Given the description of an element on the screen output the (x, y) to click on. 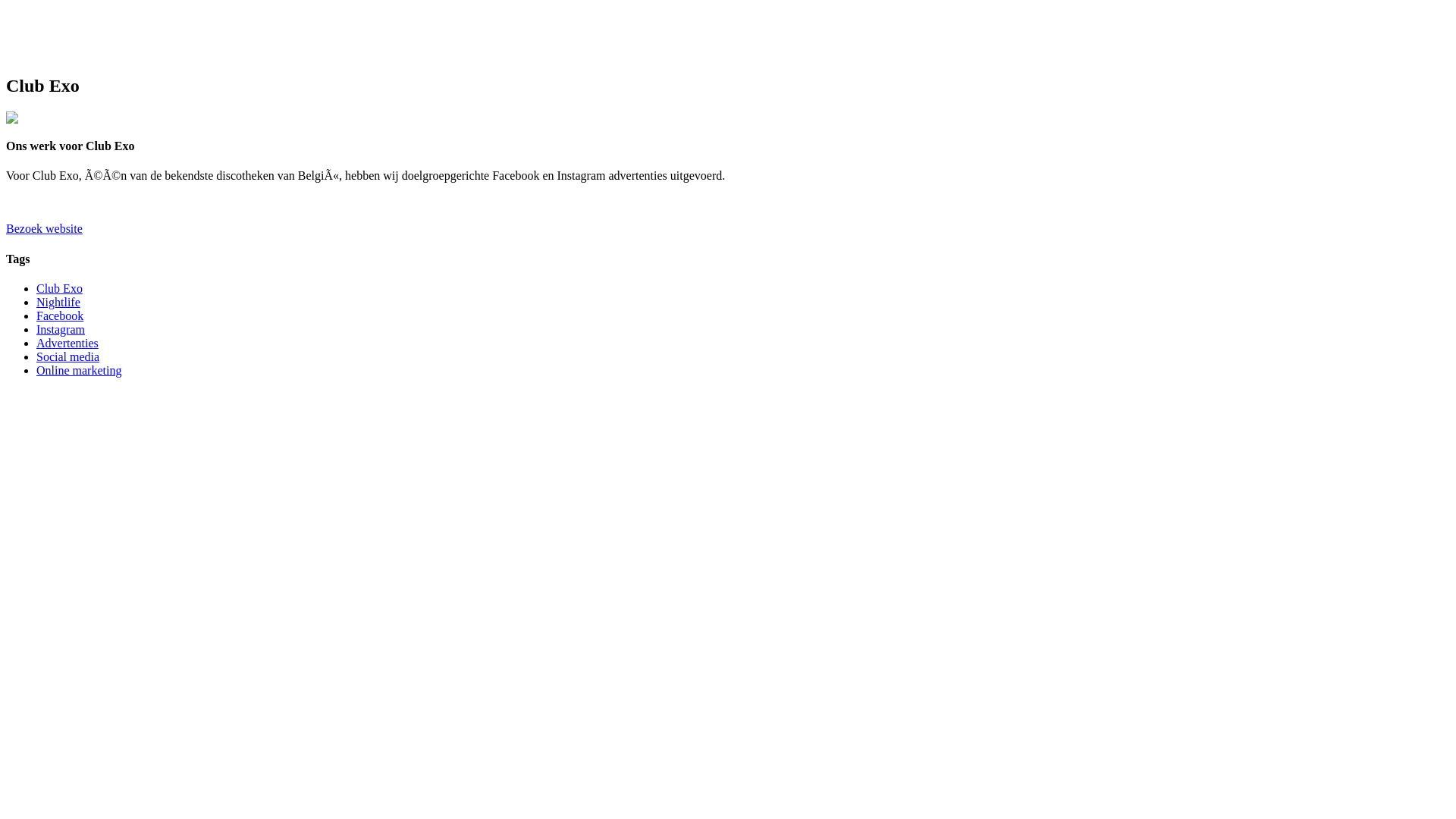
Instagram Element type: text (60, 329)
Advertenties Element type: text (67, 342)
Club Exo Element type: text (59, 288)
Bezoek website Element type: text (44, 228)
Facebook Element type: text (59, 315)
Social media Element type: text (67, 356)
Online marketing Element type: text (78, 370)
Nightlife Element type: text (58, 301)
